Given the description of an element on the screen output the (x, y) to click on. 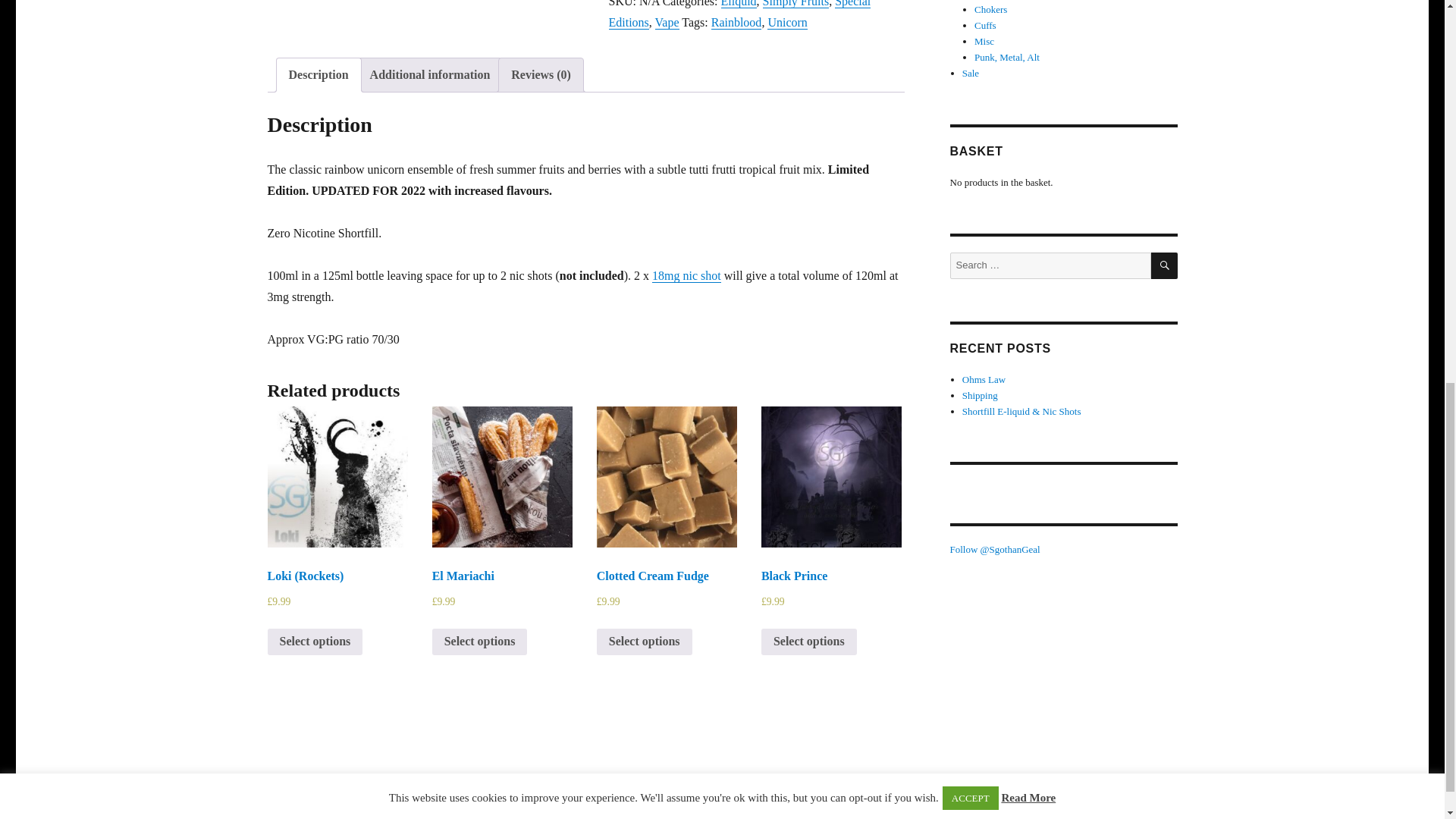
Select options (809, 642)
Eliquid (737, 3)
Rainblood (736, 21)
Description (317, 74)
Select options (314, 642)
Select options (479, 642)
Special Editions (739, 14)
Vape (667, 21)
Unicorn (786, 21)
Simply Fruits (795, 3)
